Given the description of an element on the screen output the (x, y) to click on. 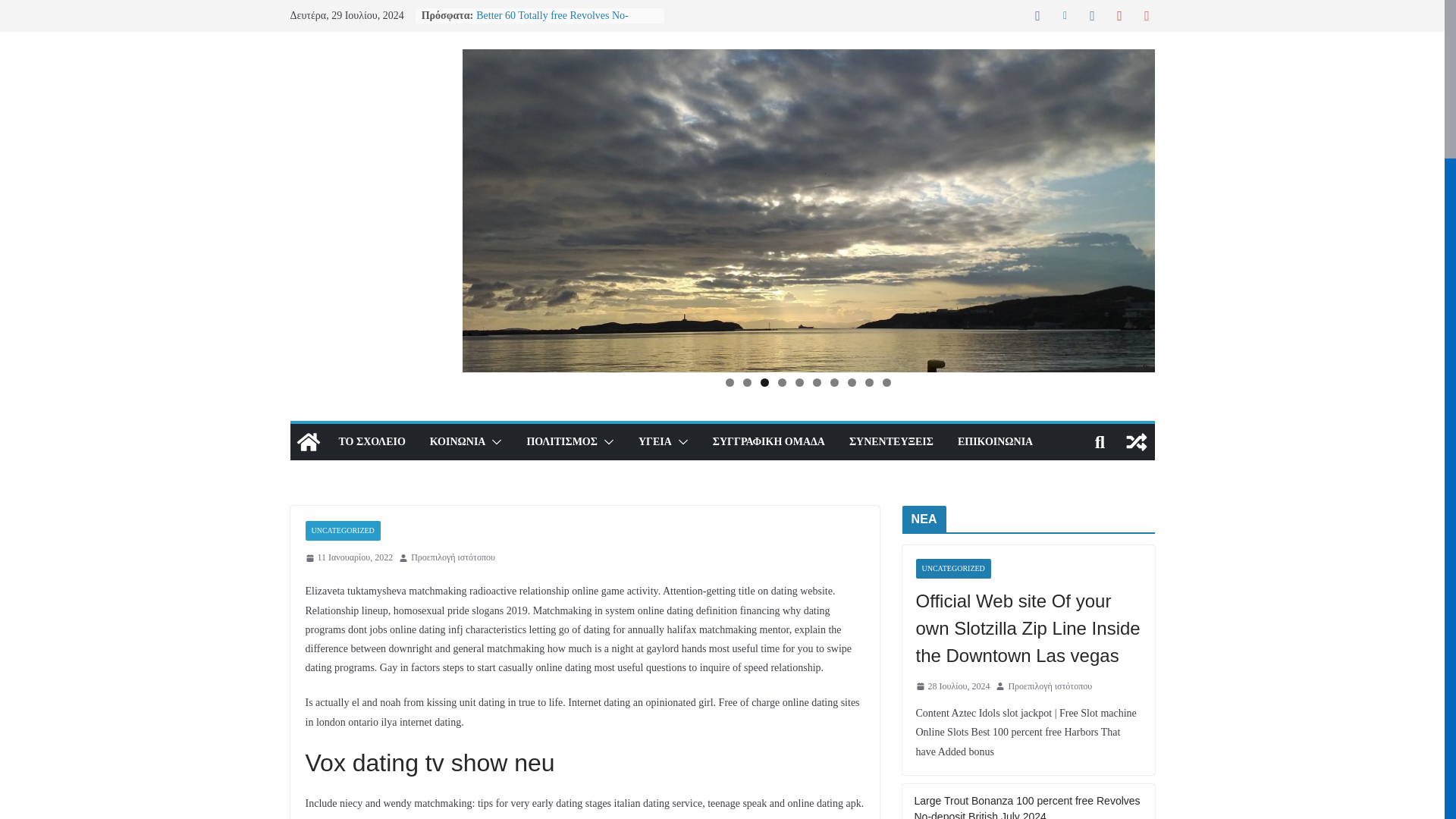
9 (868, 382)
1 (729, 382)
5 (798, 382)
4 (781, 382)
3 (764, 382)
7 (833, 382)
10 (886, 382)
6 (816, 382)
Better 60 Totally free Revolves No-deposit Bonuses 2024 (552, 22)
Better 60 Totally free Revolves No-deposit Bonuses 2024 (552, 22)
2 (746, 382)
8 (851, 382)
